Given the description of an element on the screen output the (x, y) to click on. 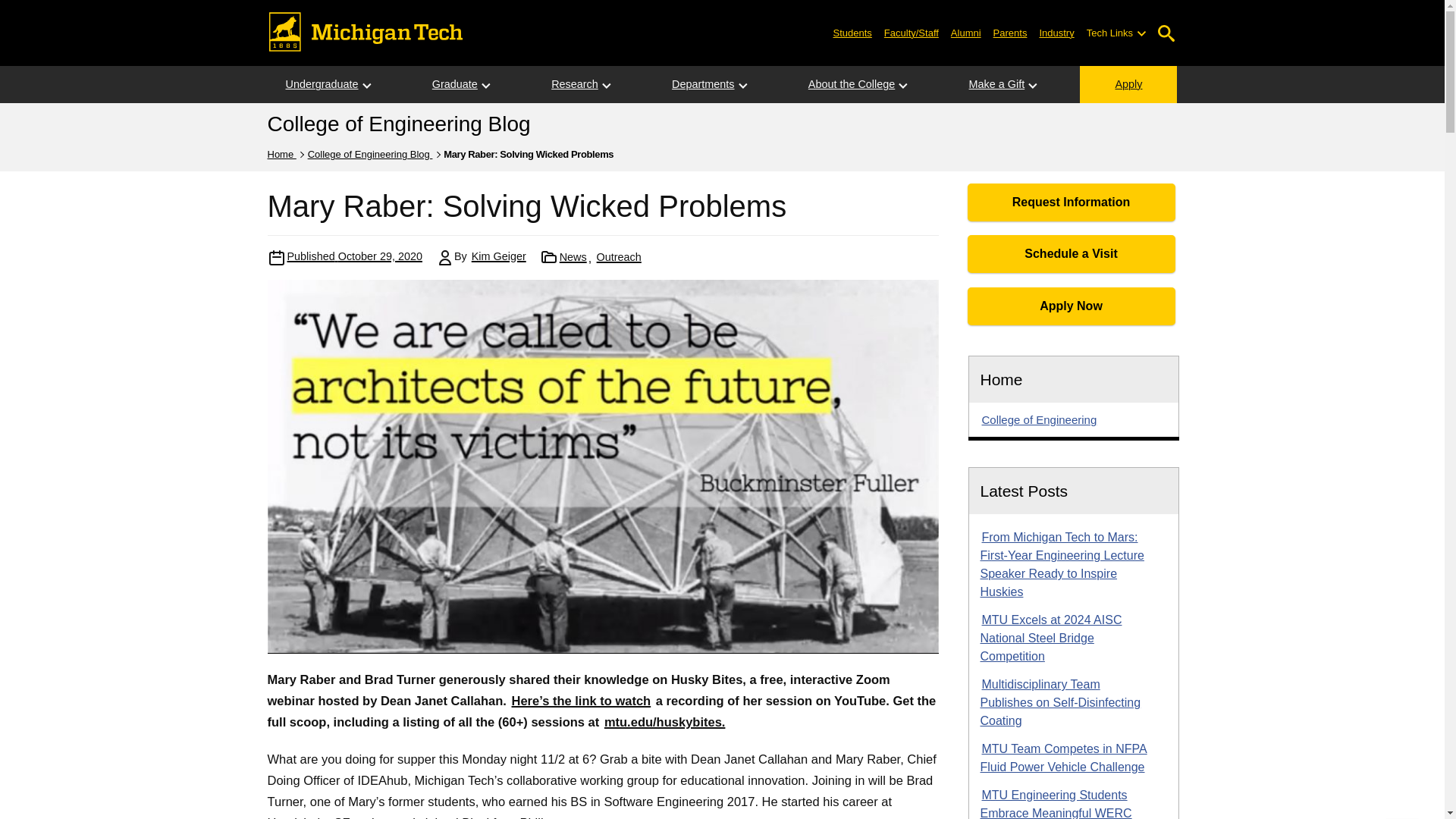
Alumni (965, 32)
Graduate (454, 84)
Open Search (1166, 33)
Undergraduate (320, 84)
Students (852, 32)
Parents (1010, 32)
Industry (1056, 32)
